Given the description of an element on the screen output the (x, y) to click on. 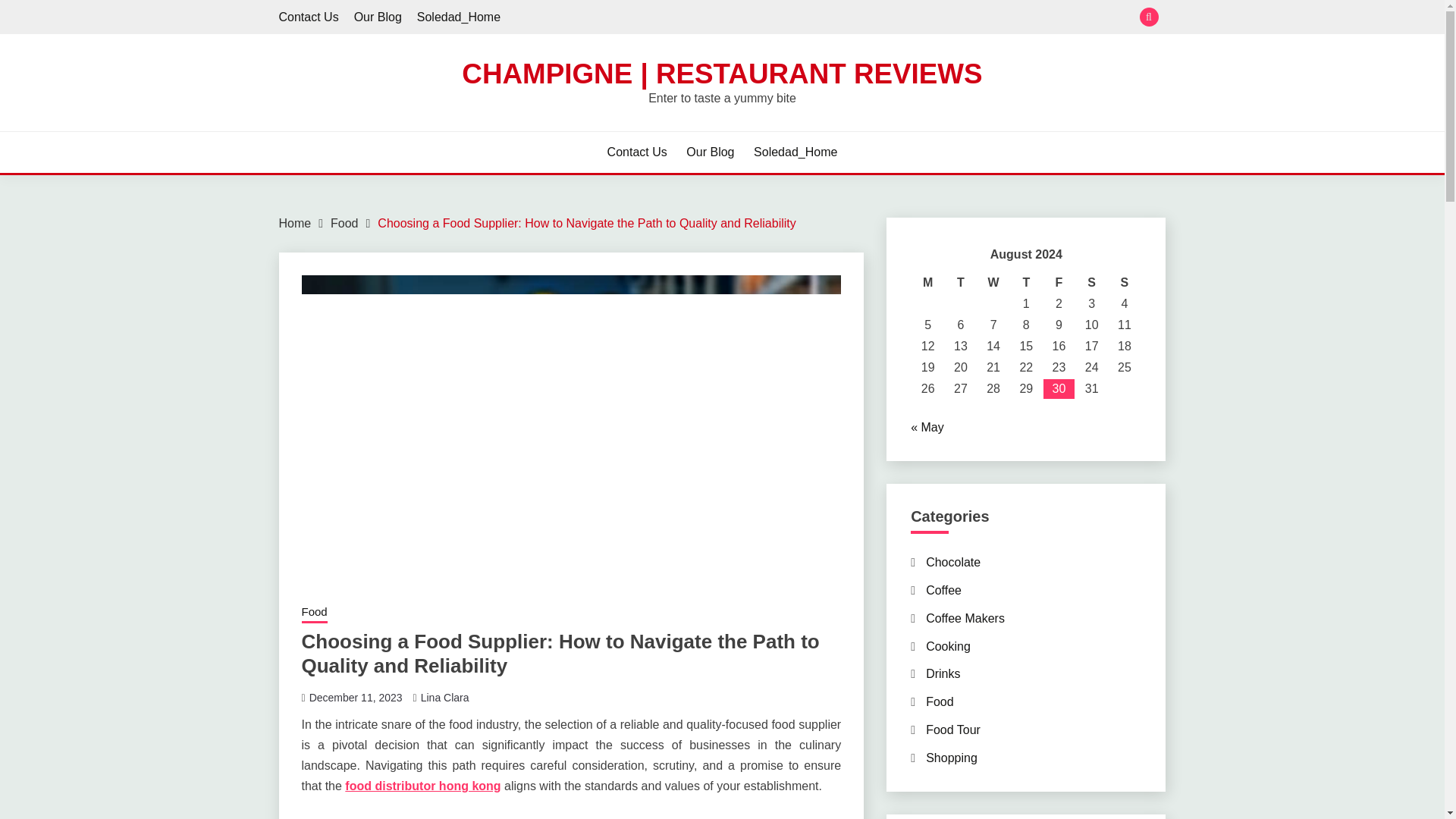
Monday (927, 282)
Chocolate (952, 562)
Cooking (948, 645)
Sunday (1124, 282)
Our Blog (709, 152)
Thursday (1026, 282)
Food (314, 613)
Coffee Makers (965, 617)
Wednesday (993, 282)
